Given the description of an element on the screen output the (x, y) to click on. 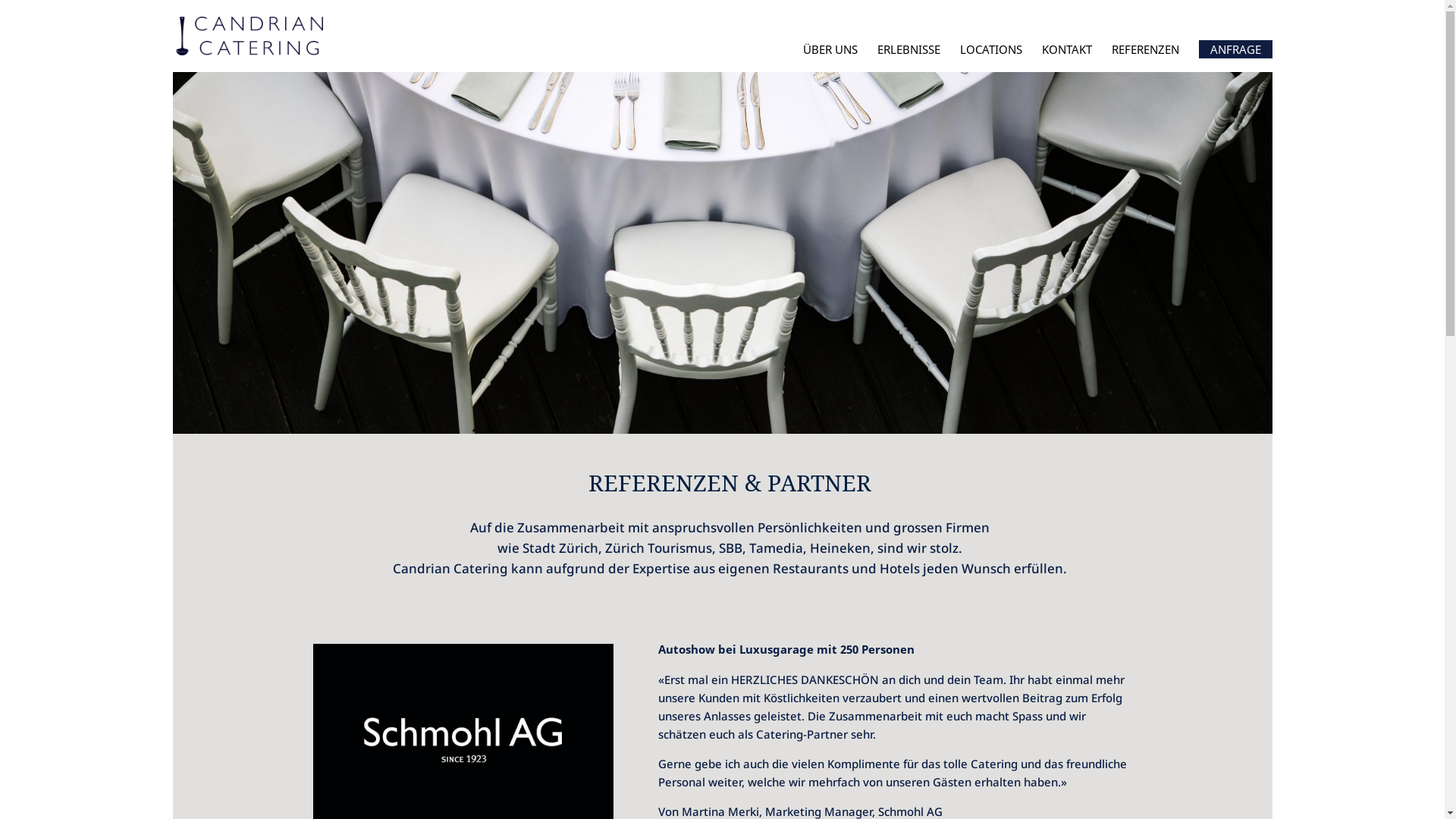
LOCATIONS Element type: text (991, 63)
REFERENZEN Element type: text (1145, 63)
ANFRAGE Element type: text (1234, 49)
ERLEBNISSE Element type: text (907, 63)
KONTAKT Element type: text (1066, 63)
